Given the description of an element on the screen output the (x, y) to click on. 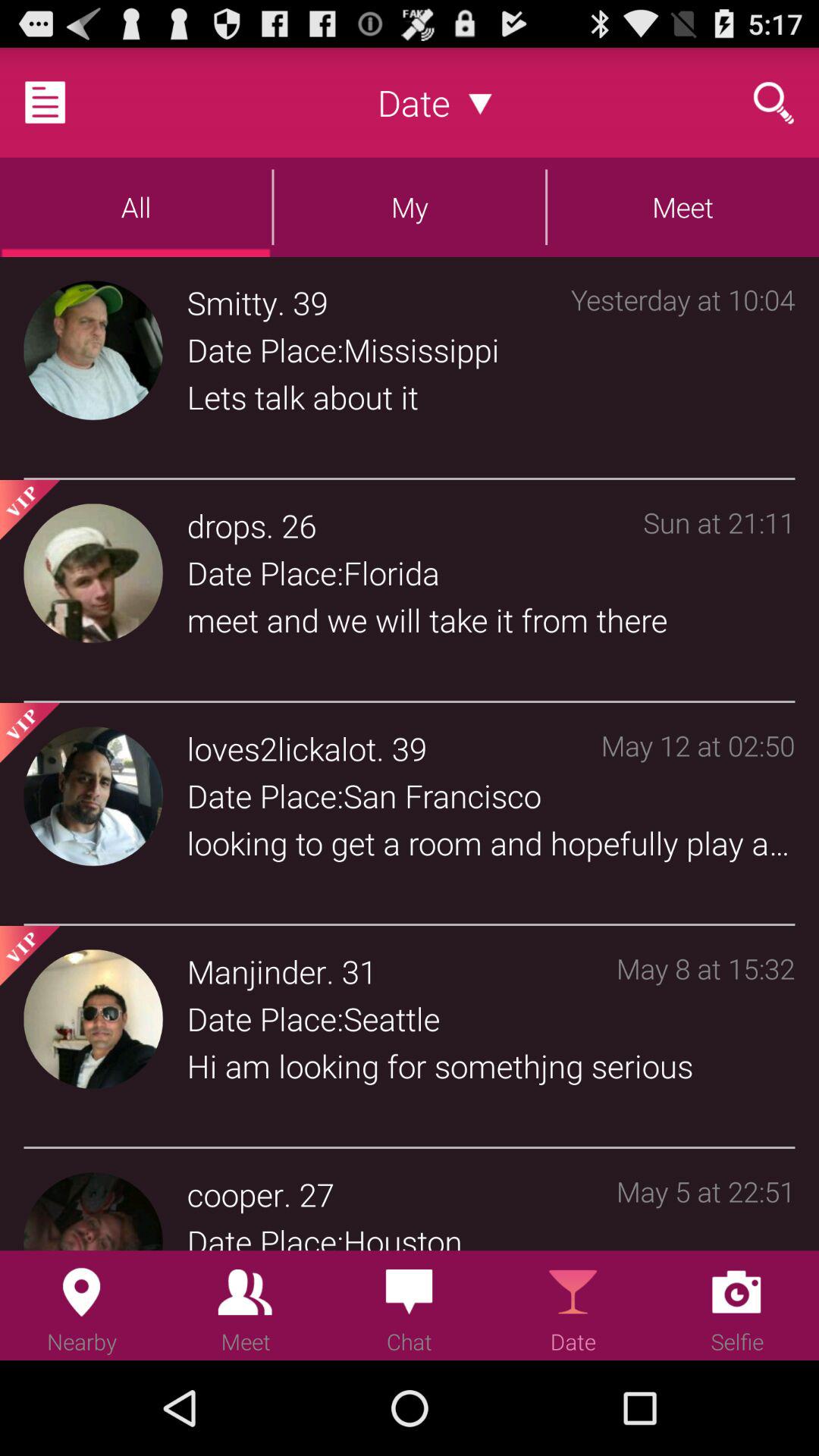
type a search term (773, 102)
